Given the description of an element on the screen output the (x, y) to click on. 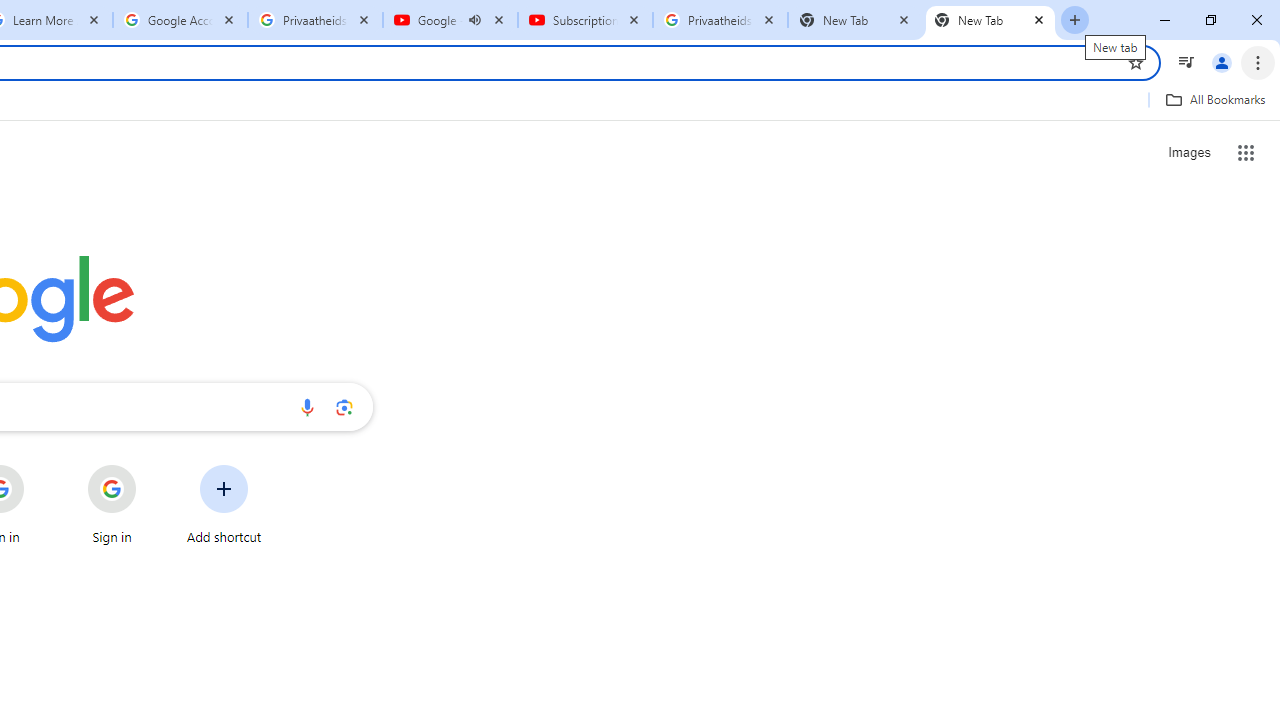
Google - YouTube - Audio playing (450, 20)
New Tab (990, 20)
Google Account (180, 20)
